Given the description of an element on the screen output the (x, y) to click on. 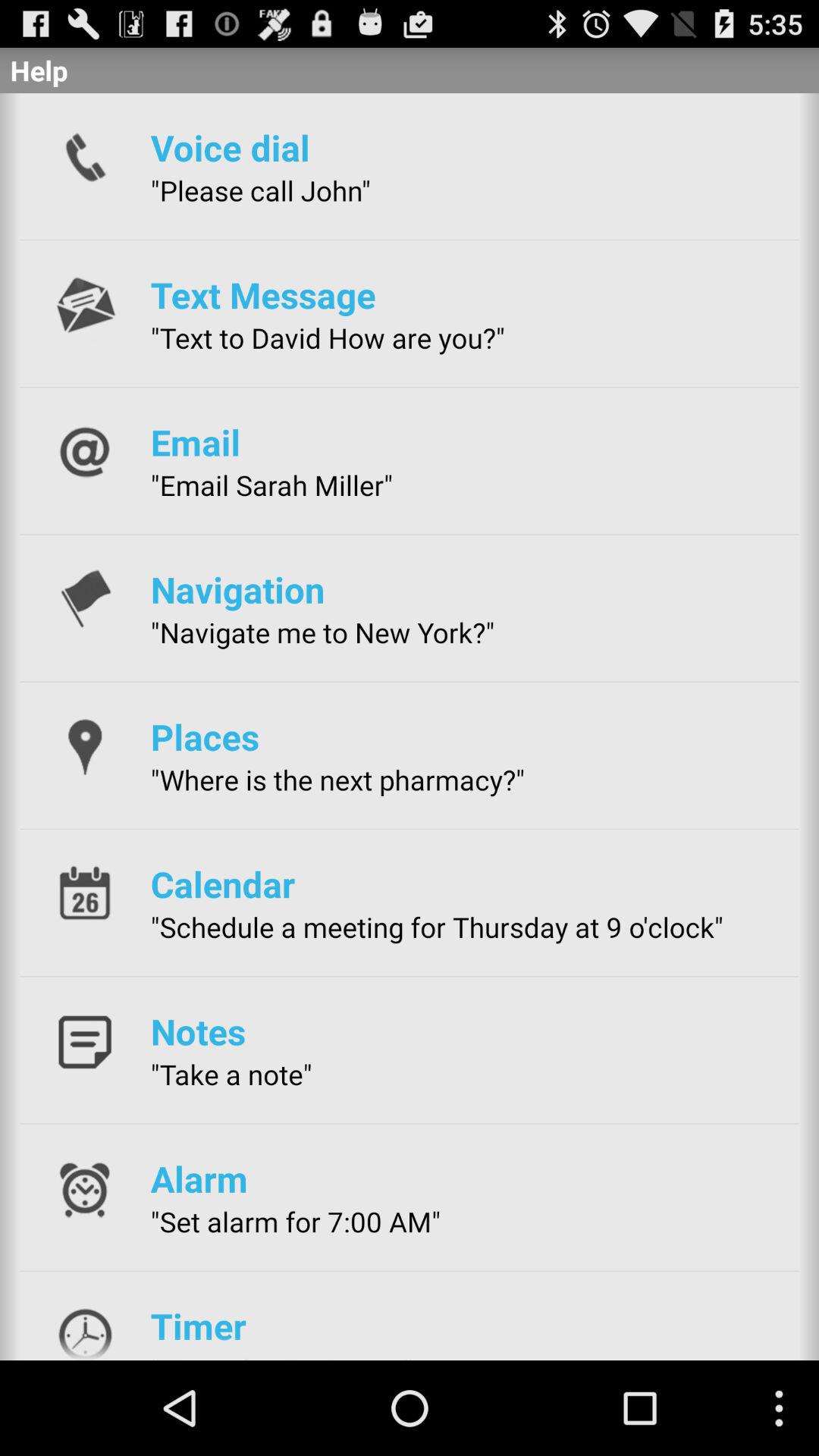
swipe to "please call john" app (260, 190)
